Given the description of an element on the screen output the (x, y) to click on. 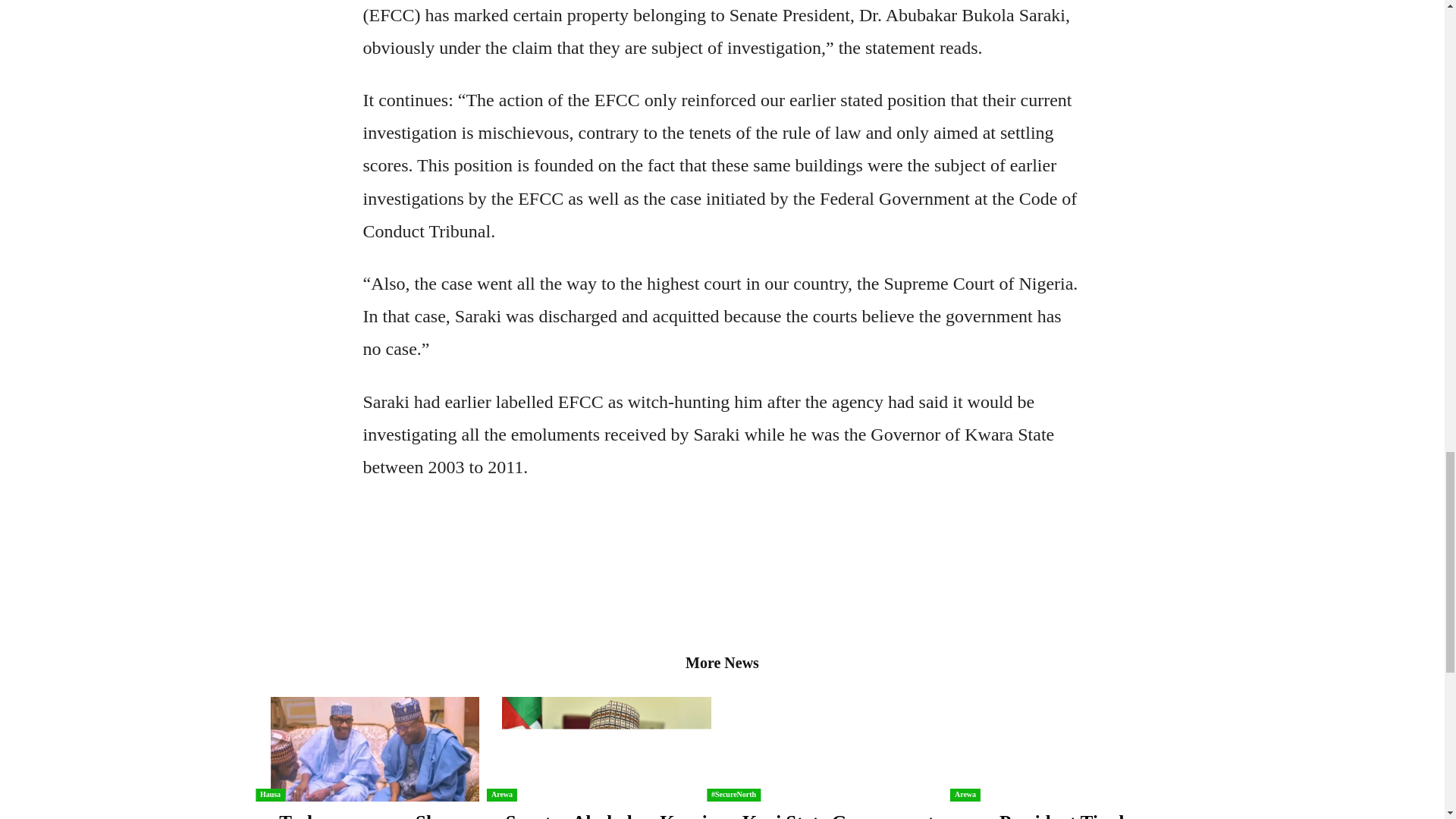
Arewa (501, 794)
Tsohon gwamna Shema ya ziyarci gwamna Dikko Radda (374, 815)
Hausa (270, 794)
Tsohon gwamna Shema ya ziyarci gwamna Dikko Radda (374, 748)
Tsohon gwamna Shema ya ziyarci gwamna Dikko Radda (374, 815)
